Given the description of an element on the screen output the (x, y) to click on. 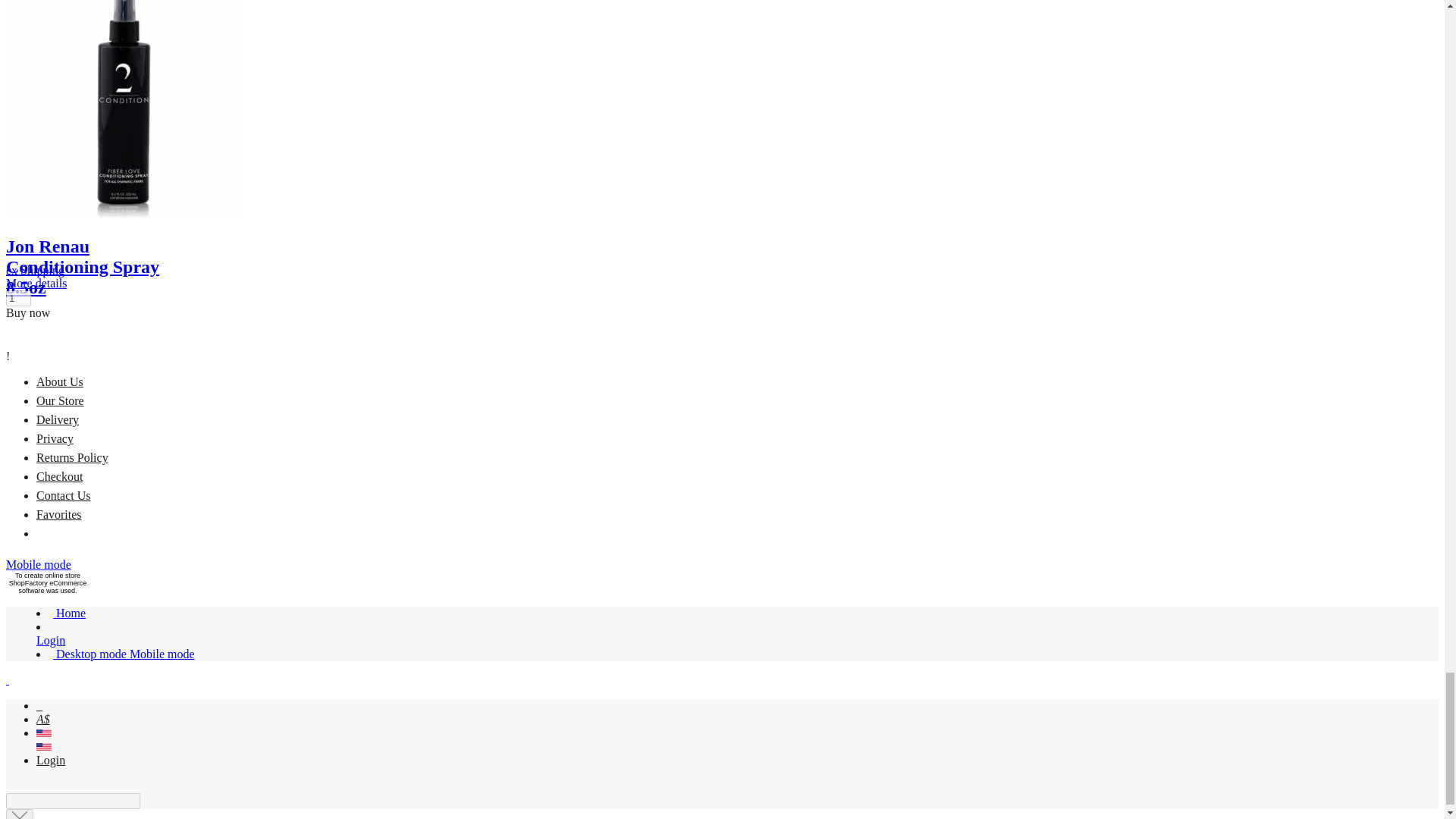
1 (17, 298)
